Given the description of an element on the screen output the (x, y) to click on. 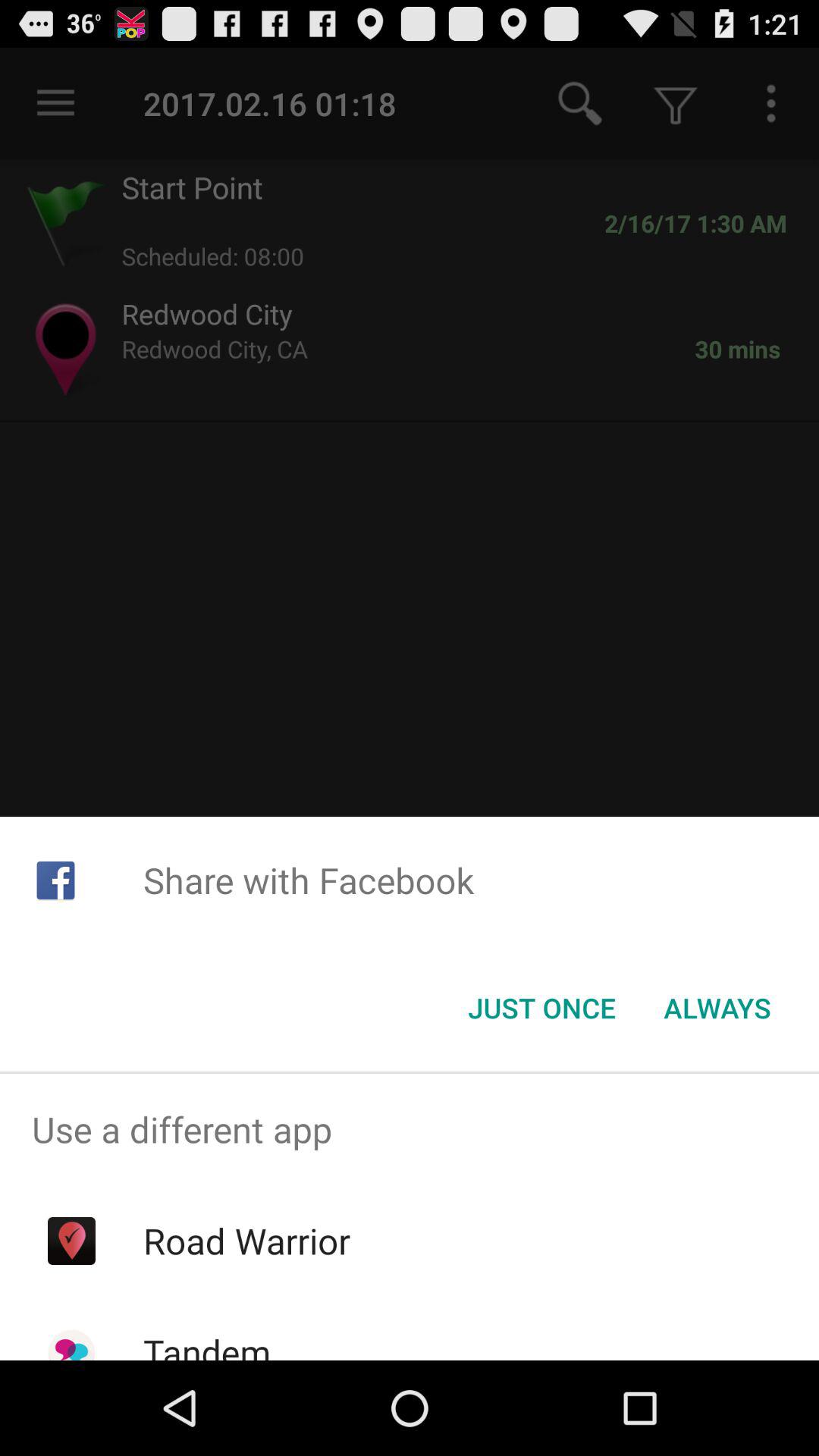
turn on item below share with facebook (717, 1007)
